Given the description of an element on the screen output the (x, y) to click on. 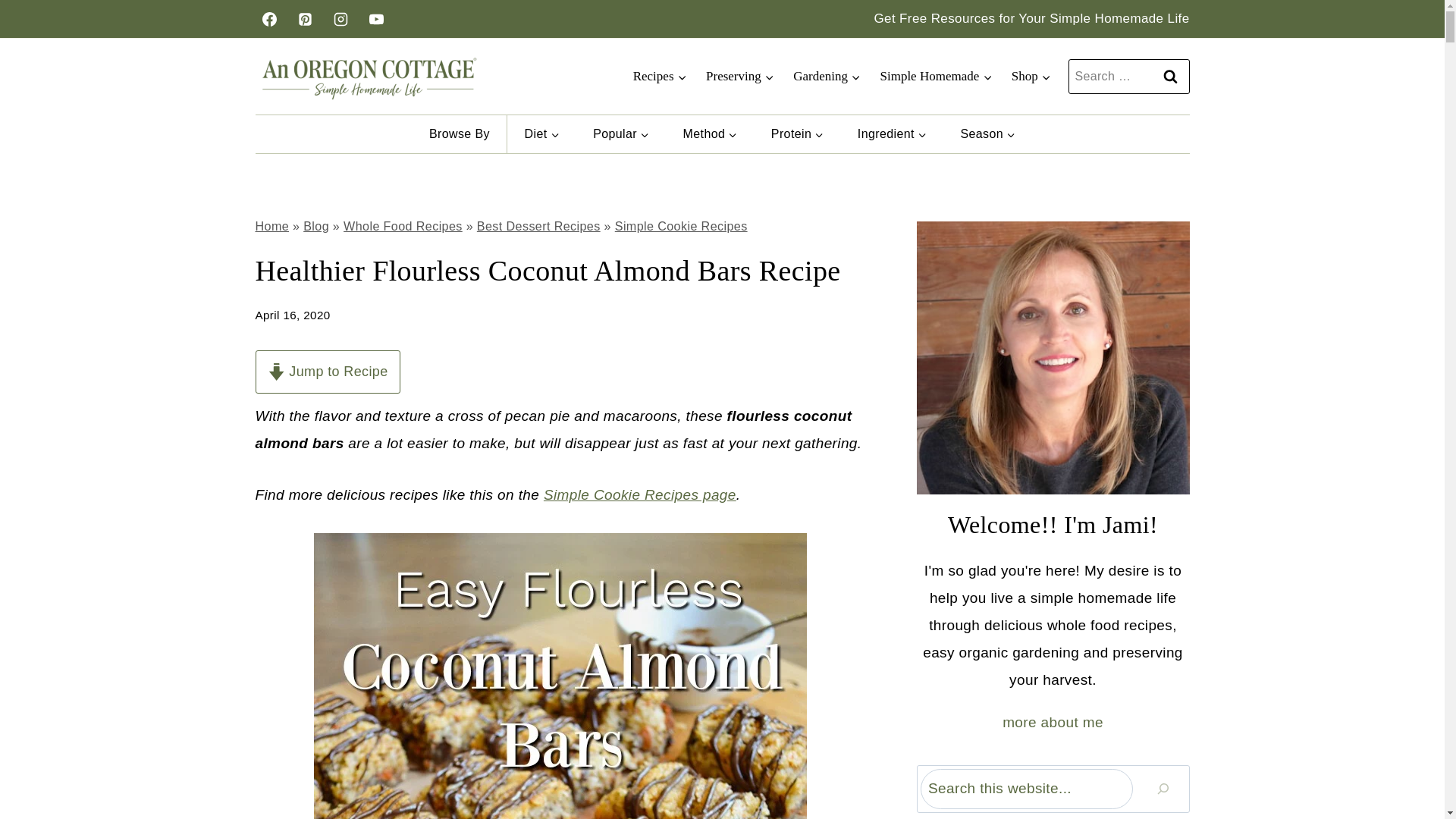
Shop (1030, 76)
Search (1170, 75)
Recipes (659, 76)
Gardening (826, 76)
Preserving (739, 76)
Get Free Resources for Your Simple Homemade Life (1031, 18)
Search (1170, 75)
Jump to Recipe (326, 371)
Simple Homemade (935, 76)
